Given the description of an element on the screen output the (x, y) to click on. 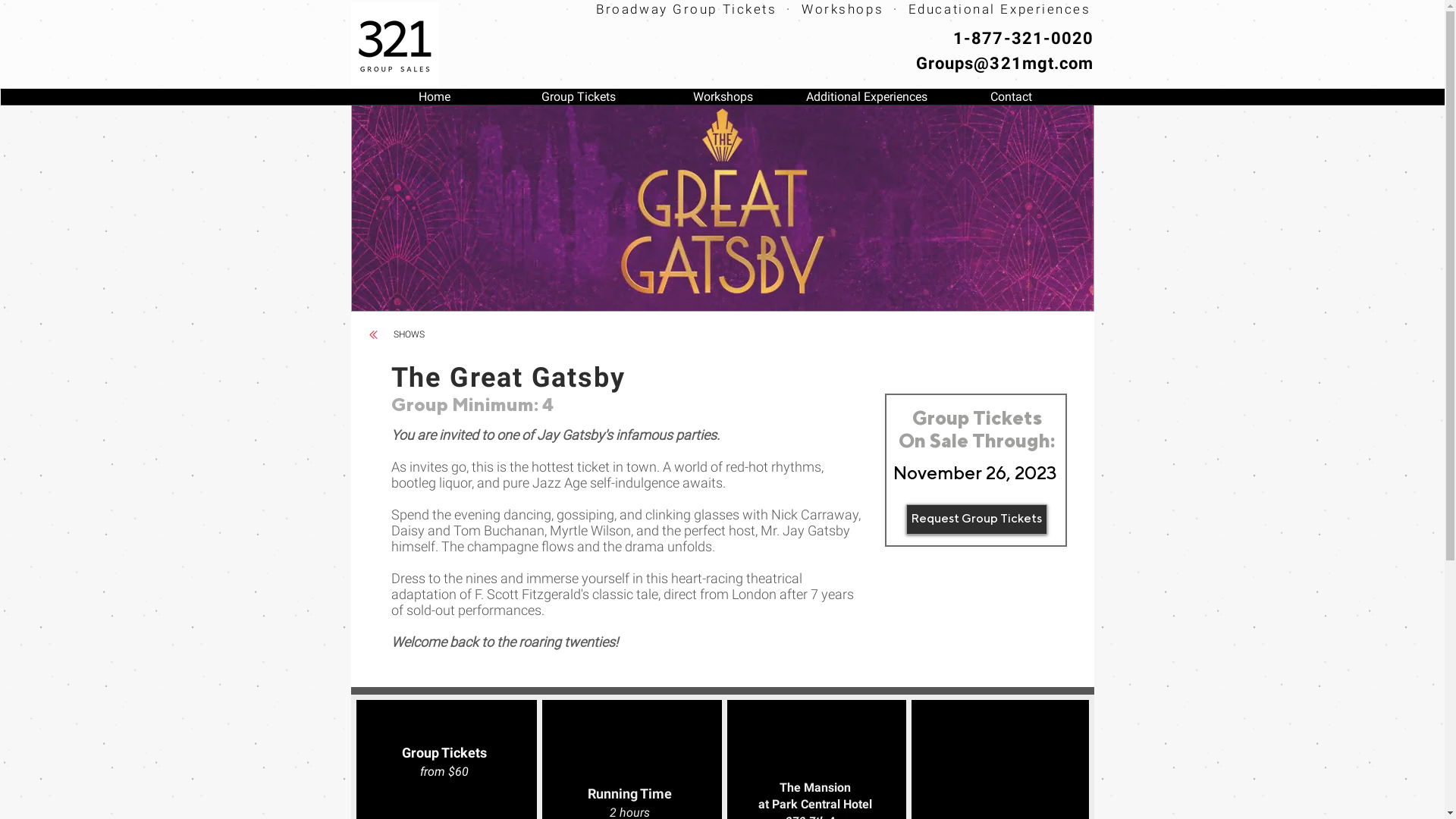
SHOWS Element type: text (402, 96)
Request Group Tickets Element type: text (975, 519)
Group Tickets Element type: text (578, 101)
Contact Element type: text (1010, 101)
Groups@321mgt.com Element type: text (1005, 62)
Home Element type: text (434, 101)
Workshops Element type: text (722, 101)
Additional Experiences Element type: text (866, 101)
SHOWS Element type: text (408, 334)
